Given the description of an element on the screen output the (x, y) to click on. 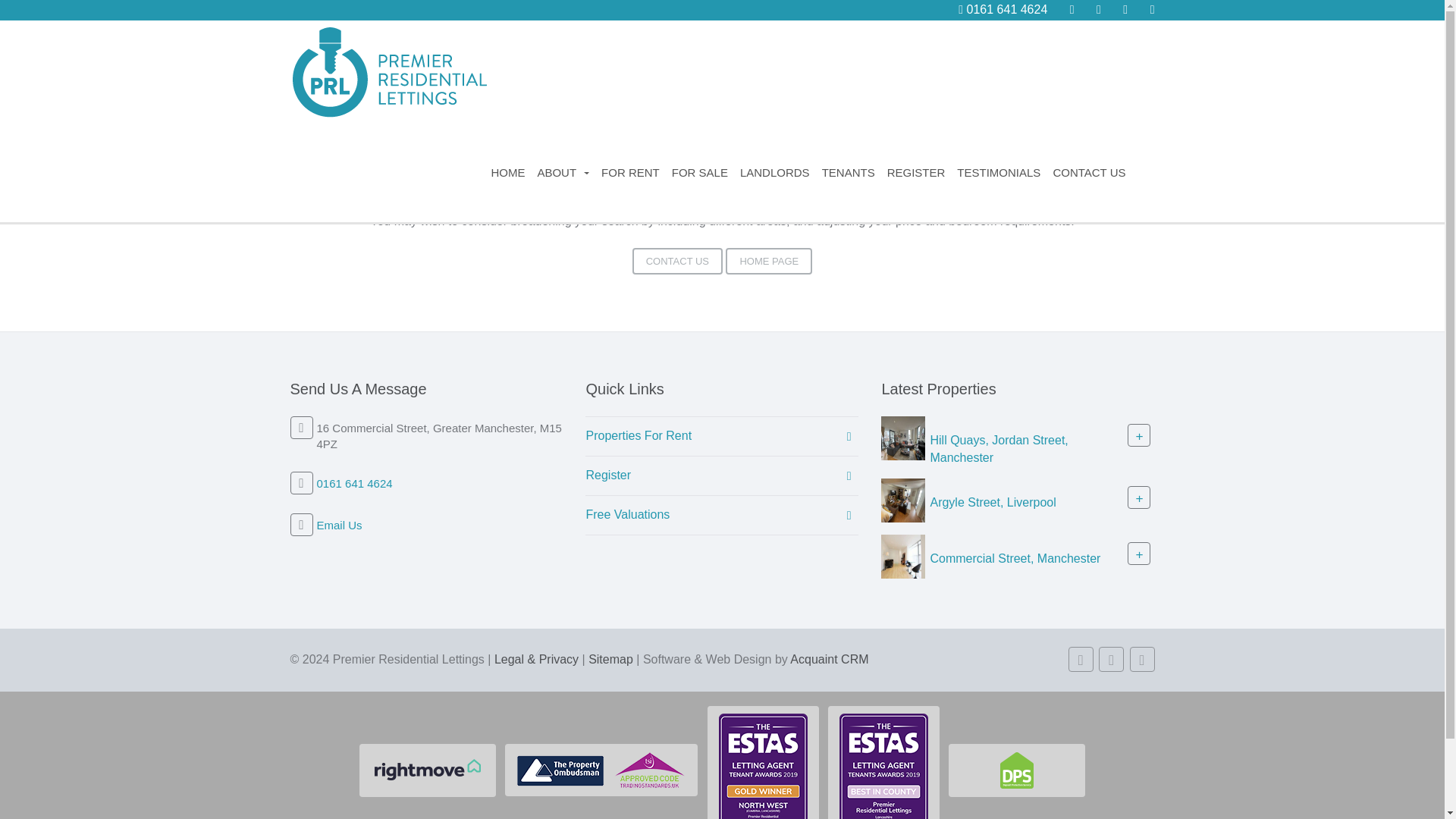
0161 641 4624 (1002, 9)
Property For Sale Jordan Street, Manchester (902, 436)
CONTACT US (676, 261)
Property For Sale Commercial Street, Manchester (902, 554)
Email Us (339, 524)
Call Us (1002, 9)
TESTIMONIALS (998, 172)
Properties For Rent (722, 435)
HOME PAGE (768, 261)
Acquaint CRM (828, 658)
